Given the description of an element on the screen output the (x, y) to click on. 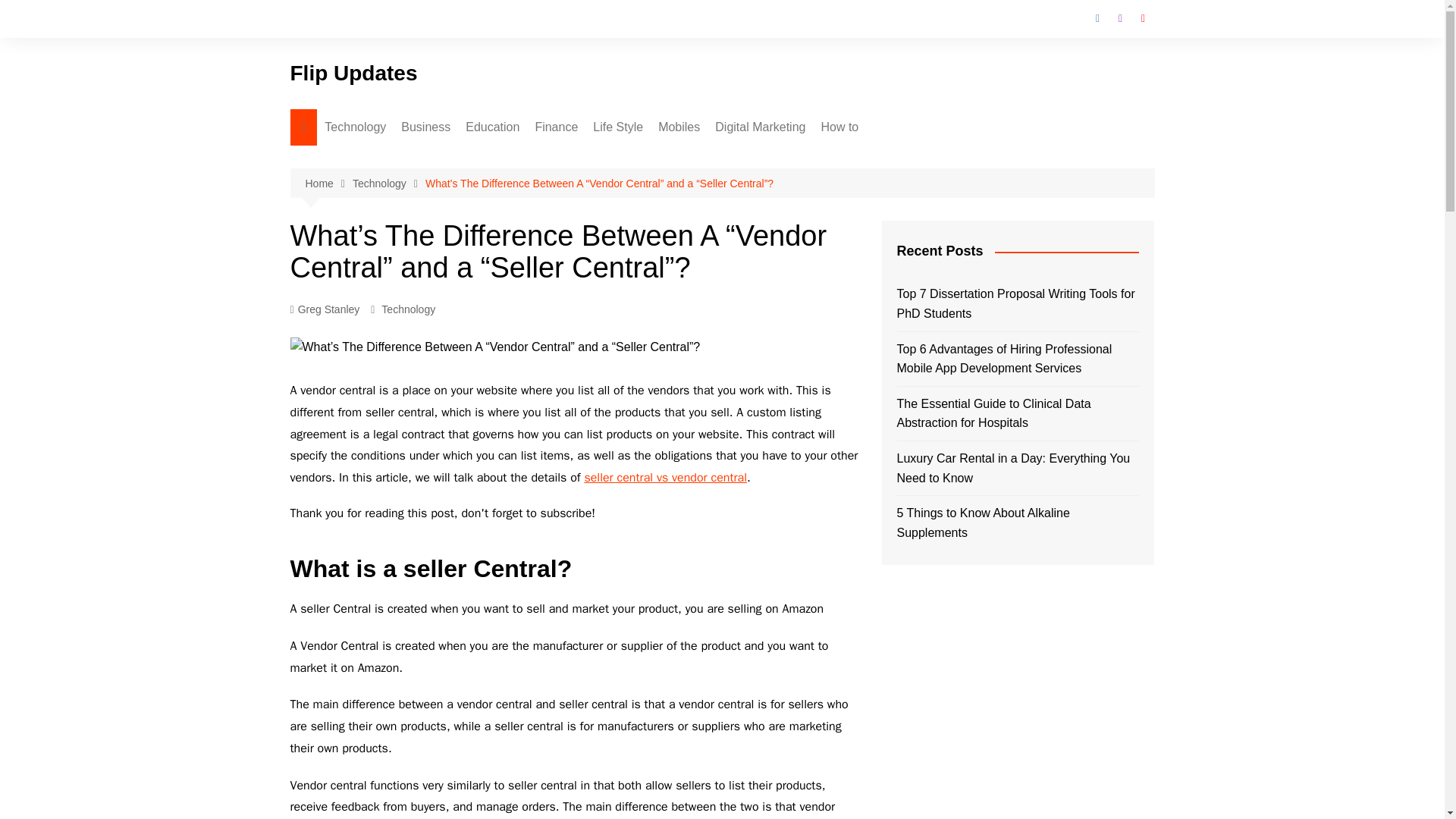
Instagram (1119, 18)
Android (733, 157)
Interior Design (668, 207)
Youtube (1142, 18)
Facebook (1097, 18)
SEO (791, 157)
Digital Marketing (759, 126)
Pets (668, 232)
Life Style (617, 126)
Apps (400, 308)
Technology (388, 183)
Education (492, 126)
Automobile (476, 232)
WordPress (791, 207)
Business (425, 126)
